Given the description of an element on the screen output the (x, y) to click on. 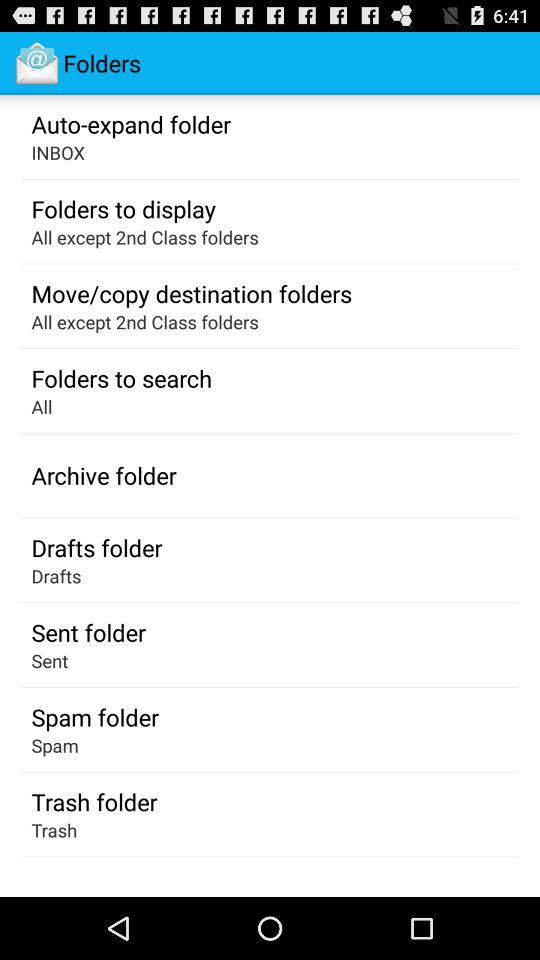
choose the icon above the all except 2nd icon (191, 293)
